Given the description of an element on the screen output the (x, y) to click on. 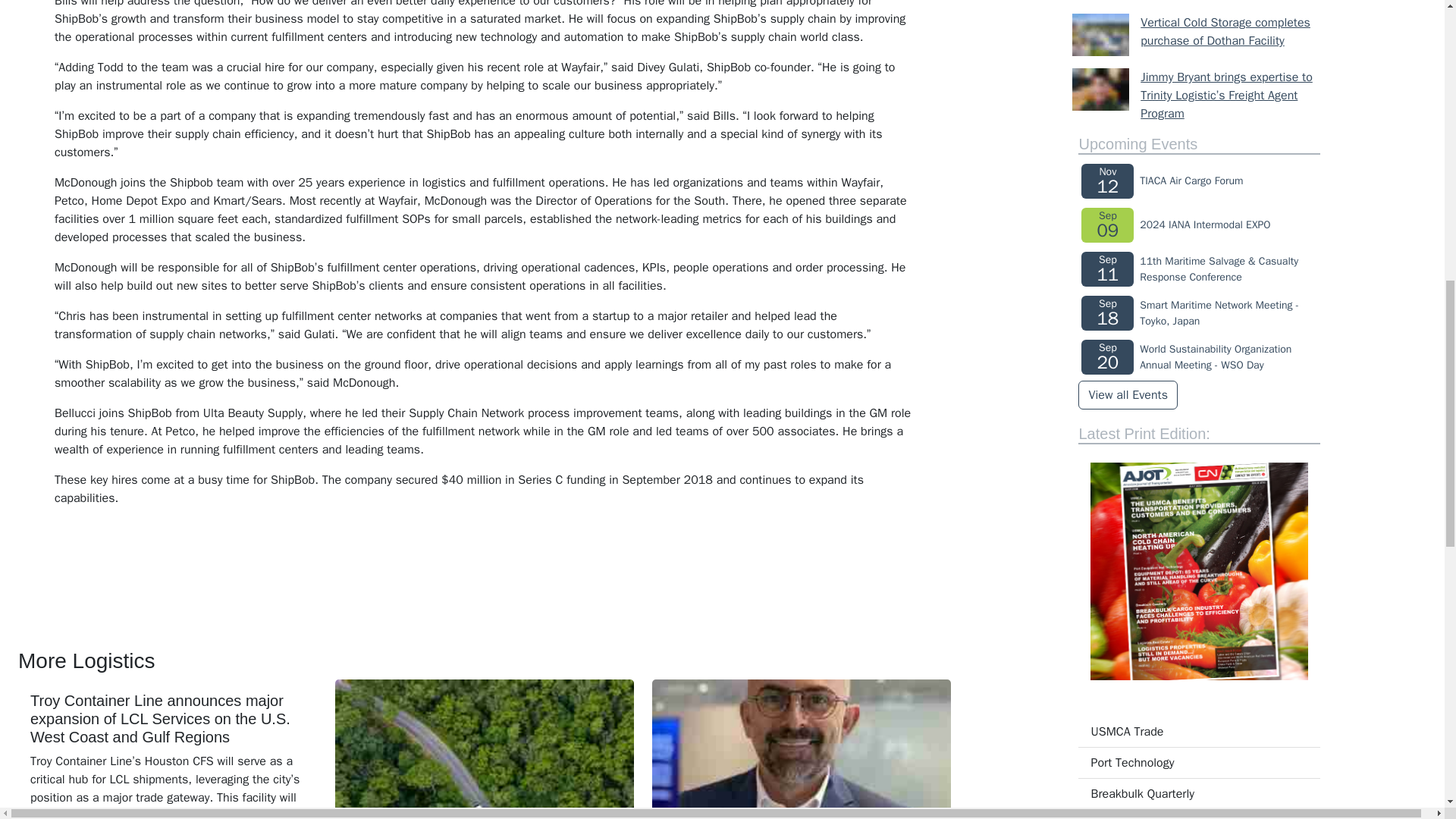
View Full Events Calendar (1127, 394)
